Given the description of an element on the screen output the (x, y) to click on. 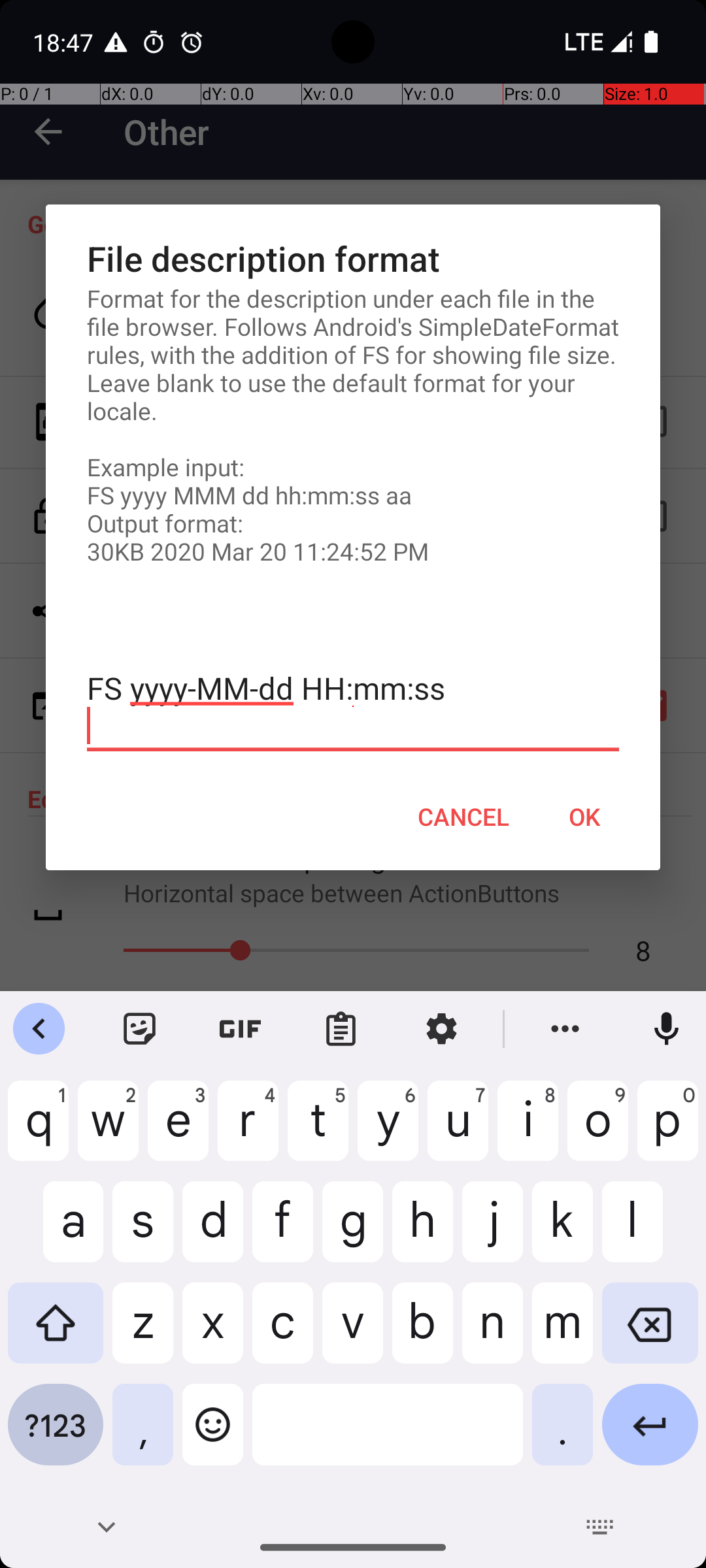
File description format Element type: android.widget.TextView (352, 258)
Format for the description under each file in the file browser. Follows Android's SimpleDateFormat rules, with the addition of FS for showing file size. Leave blank to use the default format for your locale.

Example input:
FS yyyy MMM dd hh:mm:ss aa
Output format:
30KB 2020 Mar 20 11:24:52 PM Element type: android.widget.TextView (352, 424)
FS yyyy-MM-dd HH:mm:ss
 Element type: android.widget.EditText (352, 706)
18:47 Element type: android.widget.TextView (64, 41)
Clock notification: Upcoming alarm Element type: android.widget.ImageView (191, 41)
